Given the description of an element on the screen output the (x, y) to click on. 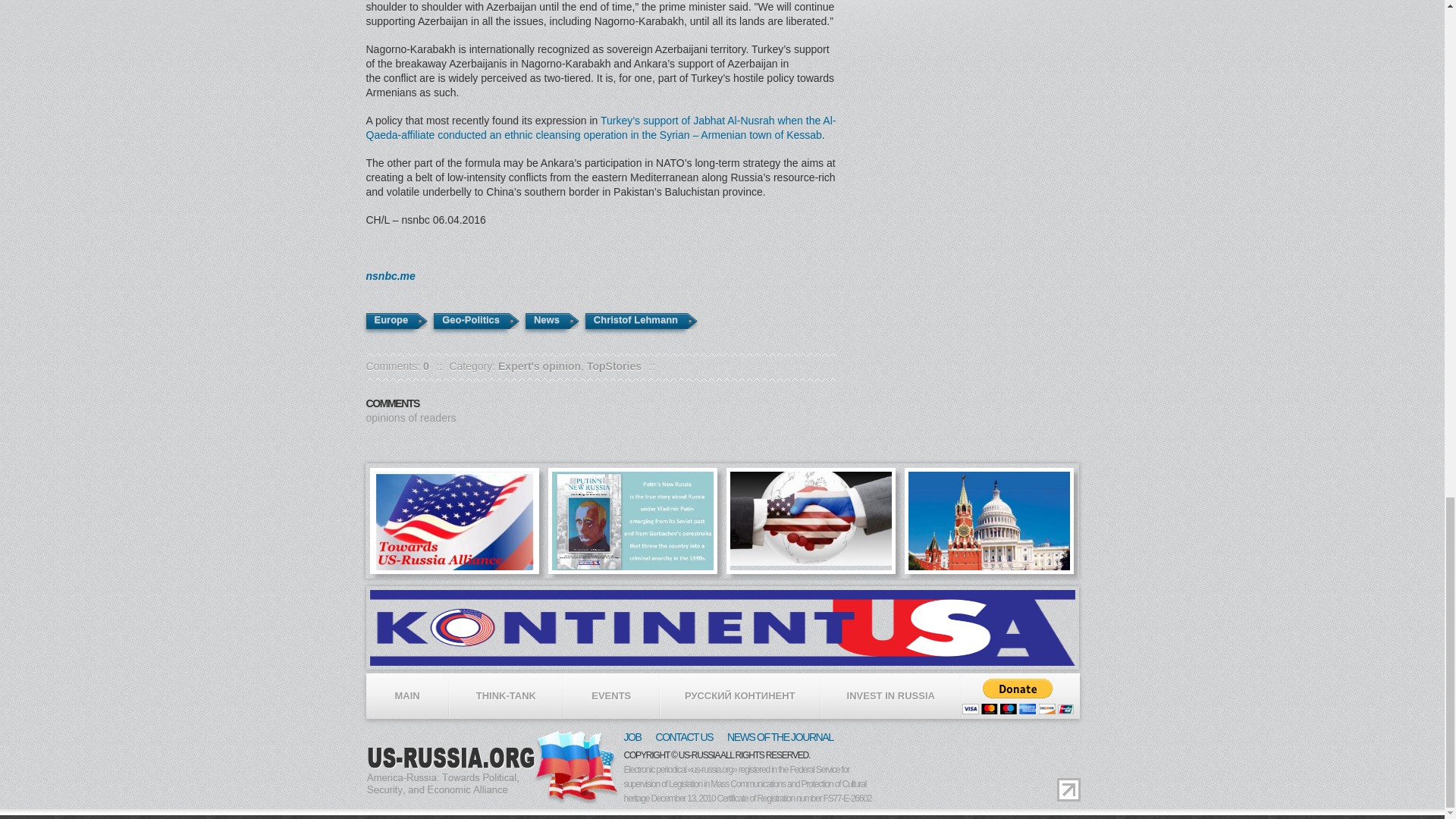
Europe (389, 320)
LiveInternet (1068, 789)
Expert's opinion (538, 366)
Geo-Politics (469, 320)
Christof Lehmann (635, 320)
News (546, 320)
nsnbc.me (389, 275)
TopStories (614, 366)
